Given the description of an element on the screen output the (x, y) to click on. 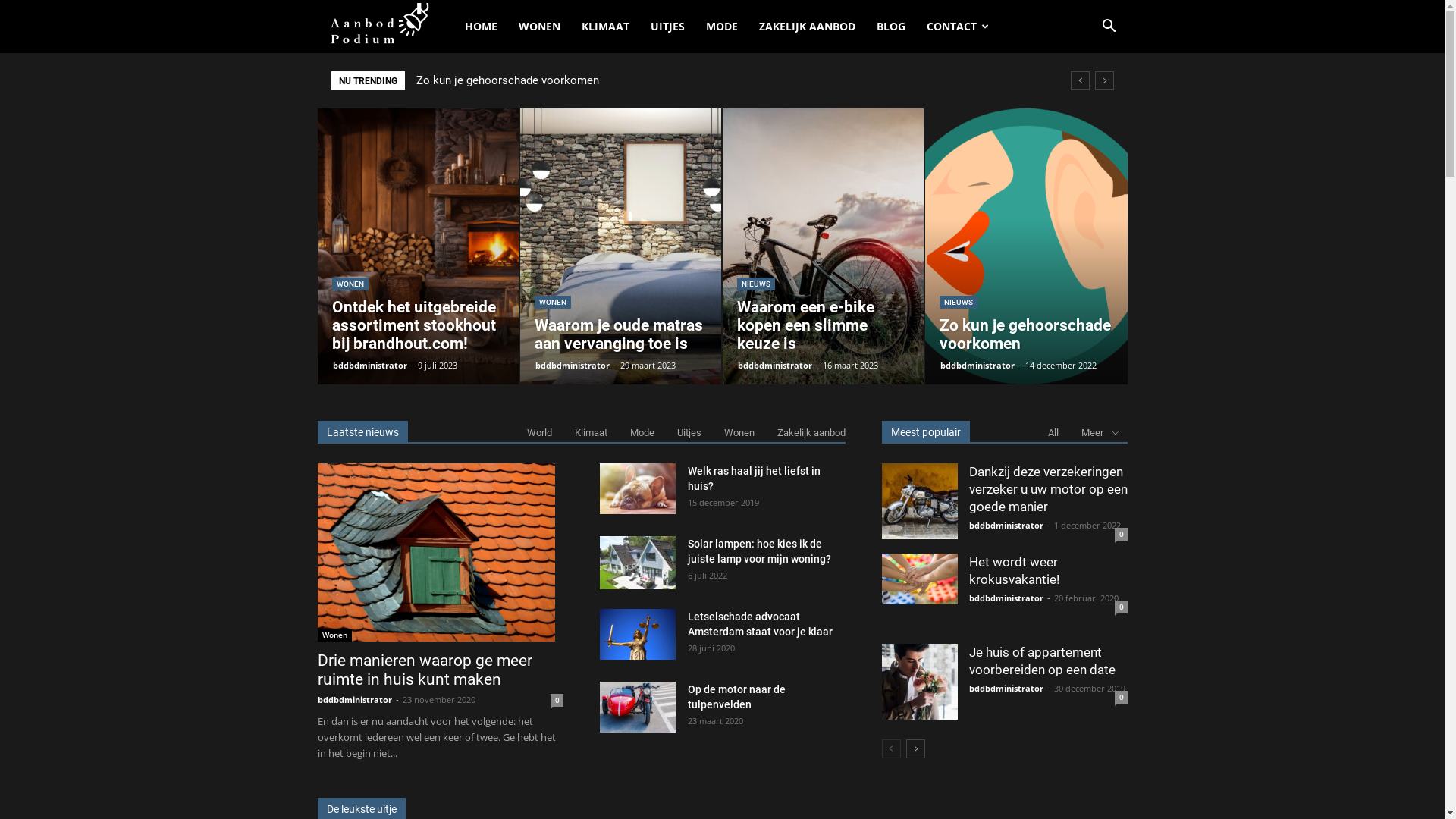
All Element type: text (1053, 432)
Uitjes Element type: text (688, 432)
aanbodpodium.be Element type: text (384, 26)
bddbdministrator Element type: text (977, 364)
Op de motor naar de tulpenvelden Element type: text (735, 696)
Zo kun je gehoorschade voorkomen Element type: text (1024, 334)
Klimaat Element type: text (590, 432)
bddbdministrator Element type: text (369, 364)
ZAKELIJK AANBOD Element type: text (806, 26)
Zoek Element type: text (1085, 96)
MODE Element type: text (720, 26)
UITJES Element type: text (667, 26)
Waarom een e-bike kopen een slimme keuze is Element type: hover (822, 246)
Waarom je oude matras aan vervanging toe is Element type: hover (620, 246)
Op de motor naar de tulpenvelden Element type: hover (636, 706)
NIEUWS Element type: text (957, 301)
WONEN Element type: text (539, 26)
bddbdministrator Element type: text (1006, 597)
KLIMAAT Element type: text (604, 26)
BLOG Element type: text (891, 26)
Solar lampen: hoe kies ik de juiste lamp voor mijn woning? Element type: hover (636, 562)
World Element type: text (538, 432)
Zo kun je gehoorschade voorkomen Element type: hover (1026, 246)
Letselschade advocaat Amsterdam staat voor je klaar Element type: text (759, 623)
Welk ras haal jij het liefst in huis? Element type: hover (636, 488)
Mode Element type: text (641, 432)
Het wordt weer krokusvakantie! Element type: text (1014, 570)
Je huis of appartement voorbereiden op een date Element type: hover (919, 681)
Waarom je oude matras aan vervanging toe is Element type: text (530, 80)
WONEN Element type: text (551, 301)
bddbdministrator Element type: text (1006, 687)
Drie manieren waarop ge meer ruimte in huis kunt maken Element type: text (423, 669)
Drie manieren waarop ge meer ruimte in huis kunt maken Element type: hover (435, 552)
Welk ras haal jij het liefst in huis? Element type: text (753, 478)
NIEUWS Element type: text (756, 283)
Wonen Element type: text (333, 634)
bddbdministrator Element type: text (353, 699)
Het wordt weer krokusvakantie! Element type: hover (919, 578)
0 Element type: text (556, 699)
CONTACT Element type: text (958, 26)
bddbdministrator Element type: text (774, 364)
WONEN Element type: text (350, 283)
Waarom een e-bike kopen een slimme keuze is Element type: text (805, 325)
0 Element type: text (1120, 533)
Drie manieren waarop ge meer ruimte in huis kunt maken Element type: hover (439, 552)
Je huis of appartement voorbereiden op een date Element type: text (1042, 660)
0 Element type: text (1120, 696)
HOME Element type: text (480, 26)
Wonen Element type: text (738, 432)
Solar lampen: hoe kies ik de juiste lamp voor mijn woning? Element type: text (758, 550)
bddbdministrator Element type: text (572, 364)
Zakelijk aanbod Element type: text (810, 432)
0 Element type: text (1120, 606)
Letselschade advocaat Amsterdam staat voor je klaar Element type: hover (636, 633)
bddbdministrator Element type: text (1006, 524)
Waarom je oude matras aan vervanging toe is Element type: text (617, 334)
